Given the description of an element on the screen output the (x, y) to click on. 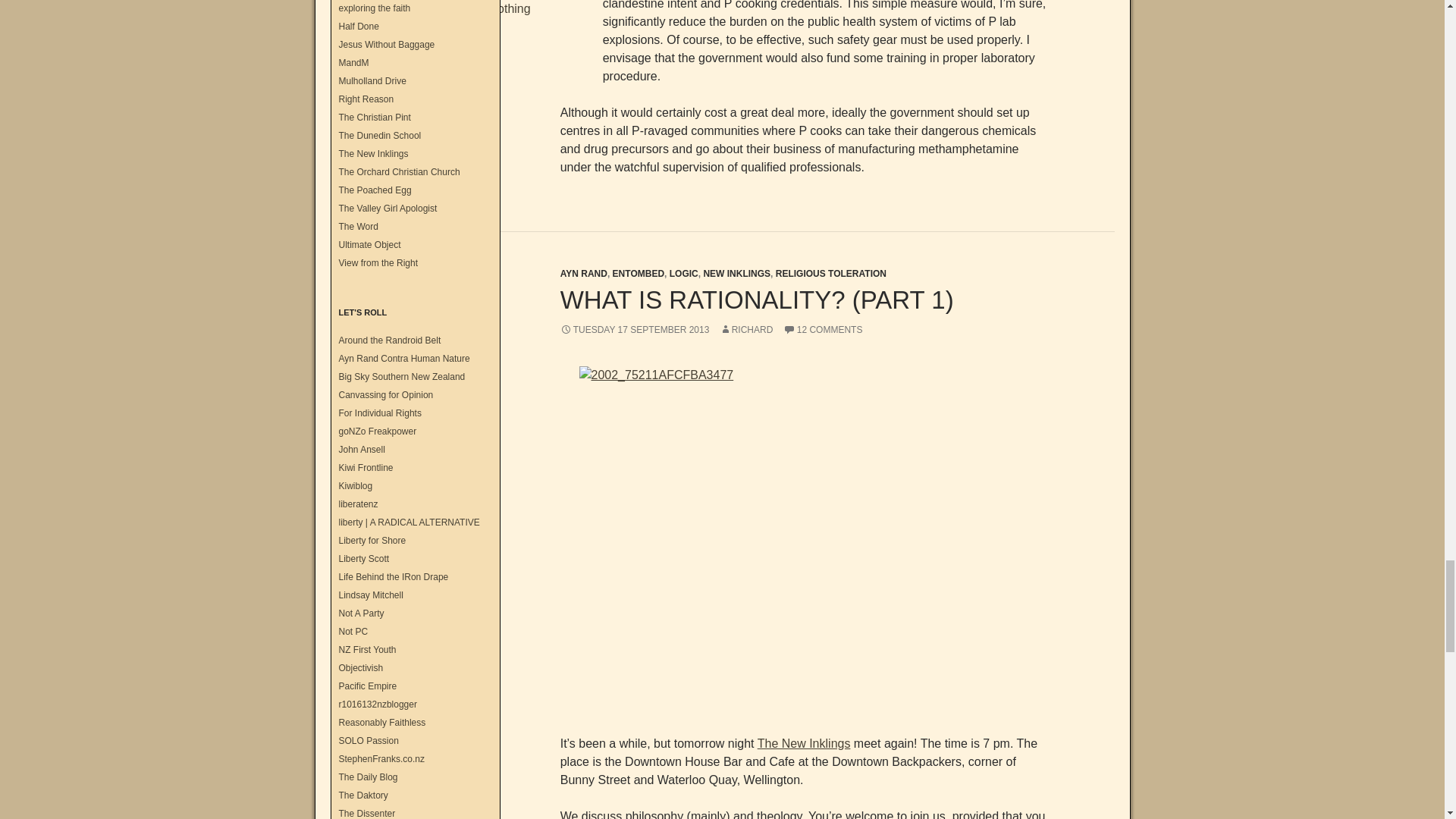
For a free Southland (400, 376)
Brains Trust (376, 430)
Staff at ESR model government issued protective clothing (508, 43)
Blessed are the Canaanites (352, 62)
